Given the description of an element on the screen output the (x, y) to click on. 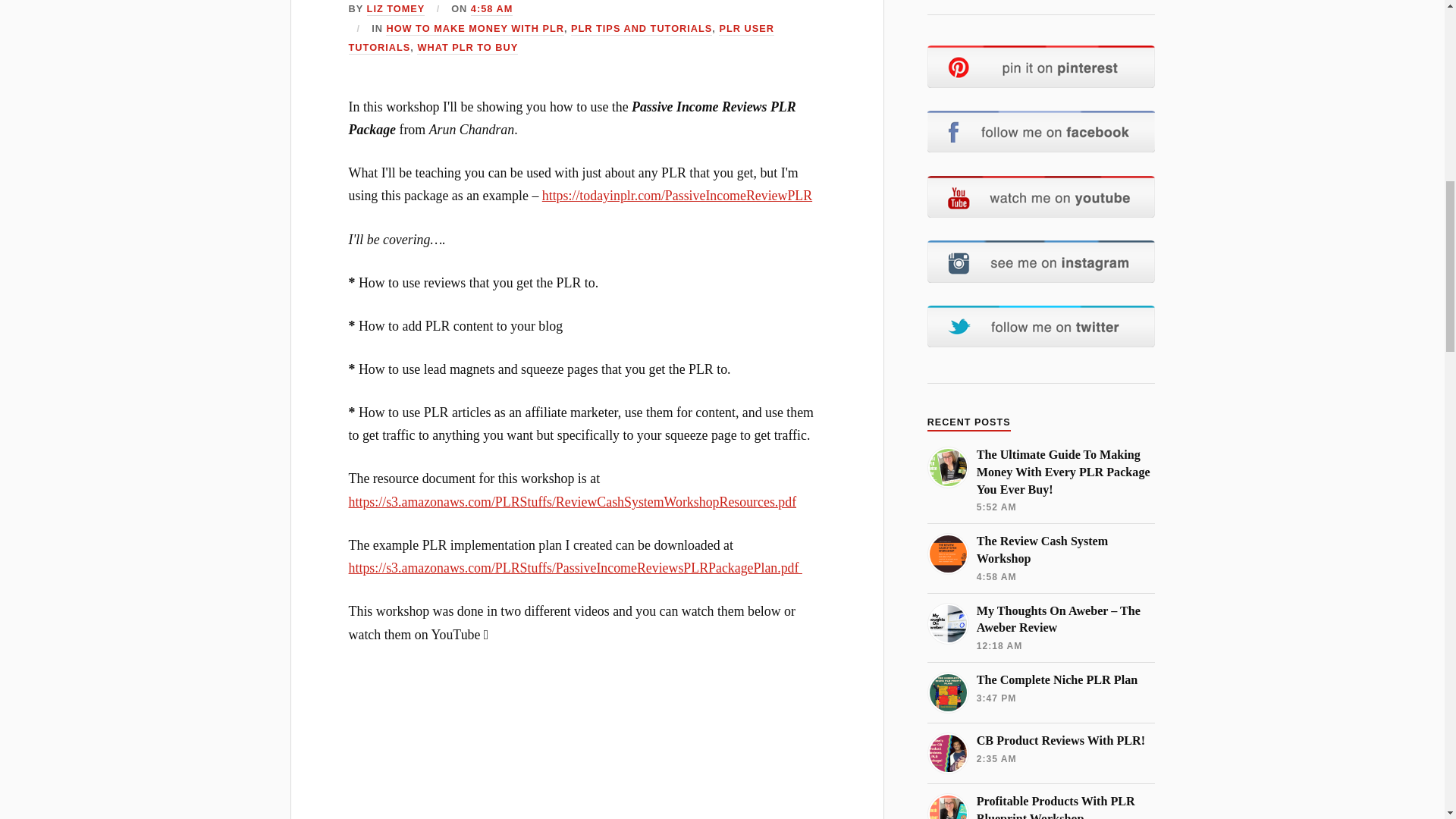
LIZ TOMEY (395, 9)
Posts by Liz Tomey (395, 9)
WHAT PLR TO BUY (467, 47)
HOW TO MAKE MONEY WITH PLR (474, 29)
YouTube video player (587, 742)
4:58 AM (491, 9)
PLR USER TUTORIALS (561, 38)
PLR TIPS AND TUTORIALS (640, 29)
